Given the description of an element on the screen output the (x, y) to click on. 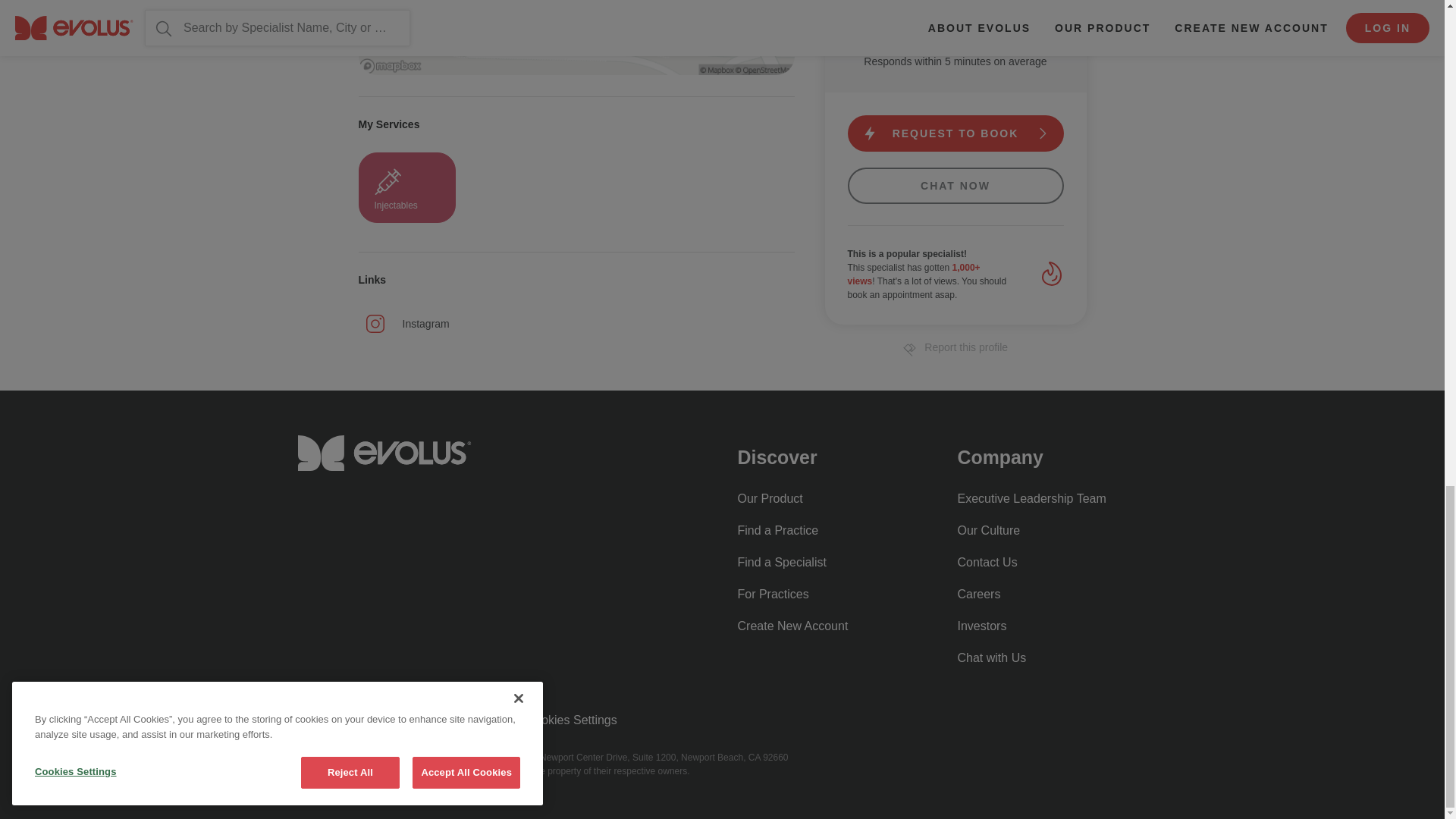
Instagram (409, 323)
